Given the description of an element on the screen output the (x, y) to click on. 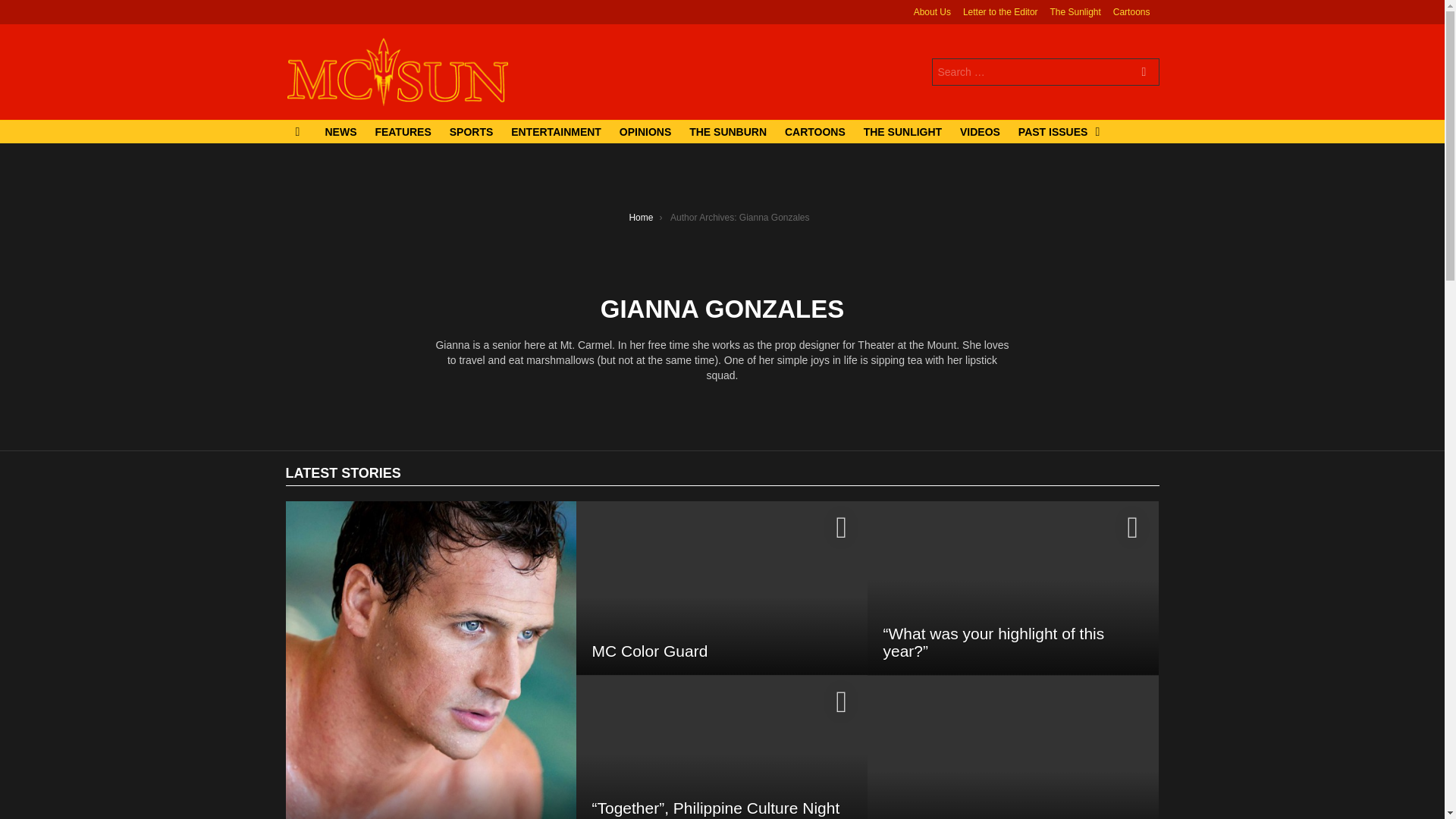
PAST ISSUES (1055, 131)
Search for: (1044, 71)
LochteGate: Scandal Untangled (430, 660)
Past Issues (1055, 131)
Menu (296, 131)
MC Color Guard (649, 651)
Cartoons (1131, 12)
SPORTS (471, 131)
CARTOONS (815, 131)
THE SUNLIGHT (902, 131)
Winter Pep Rally Highlights (978, 817)
NEWS (340, 131)
THE SUNBURN (727, 131)
About Us (932, 12)
